Given the description of an element on the screen output the (x, y) to click on. 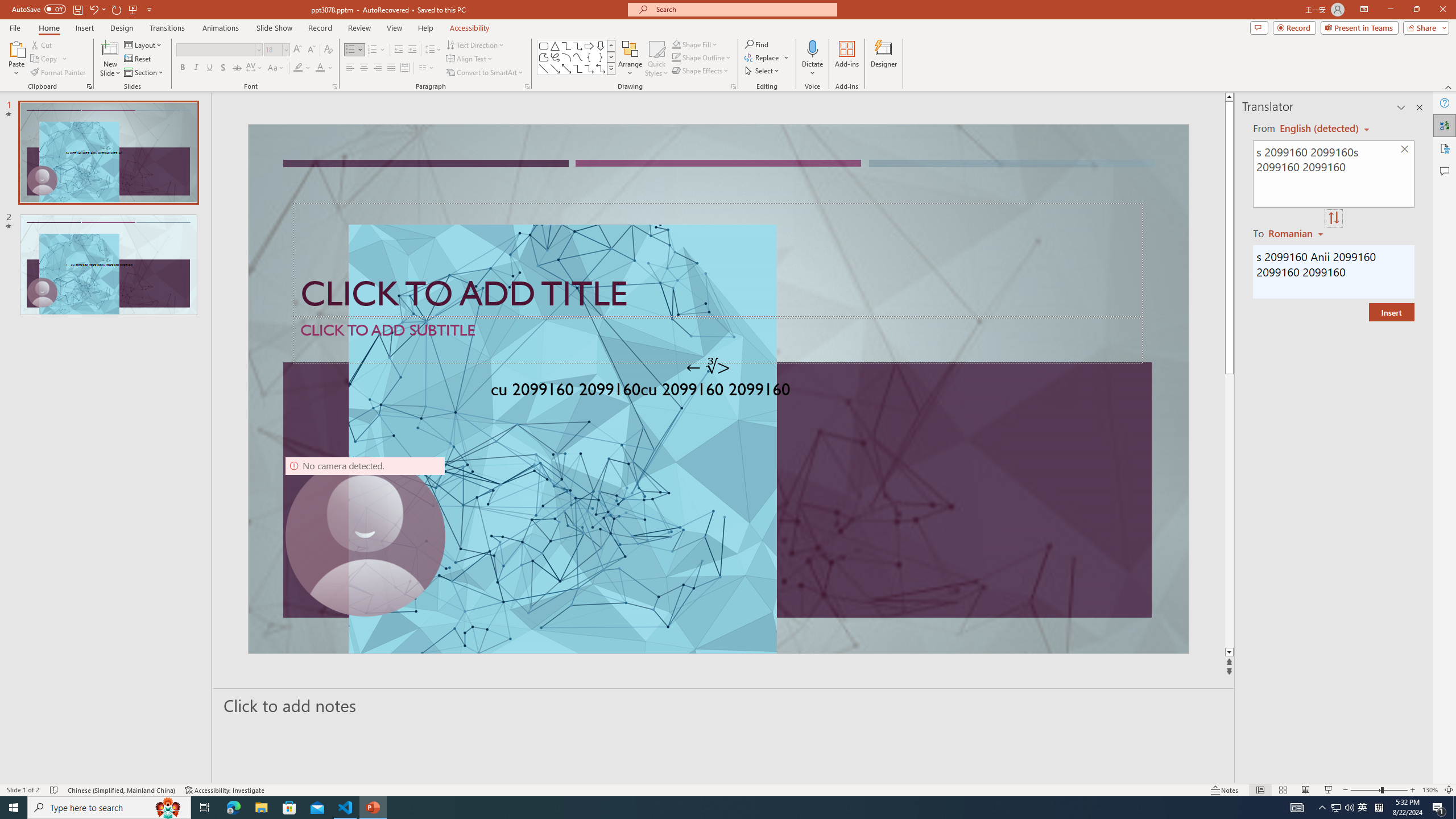
Clear text (1404, 149)
